Given the description of an element on the screen output the (x, y) to click on. 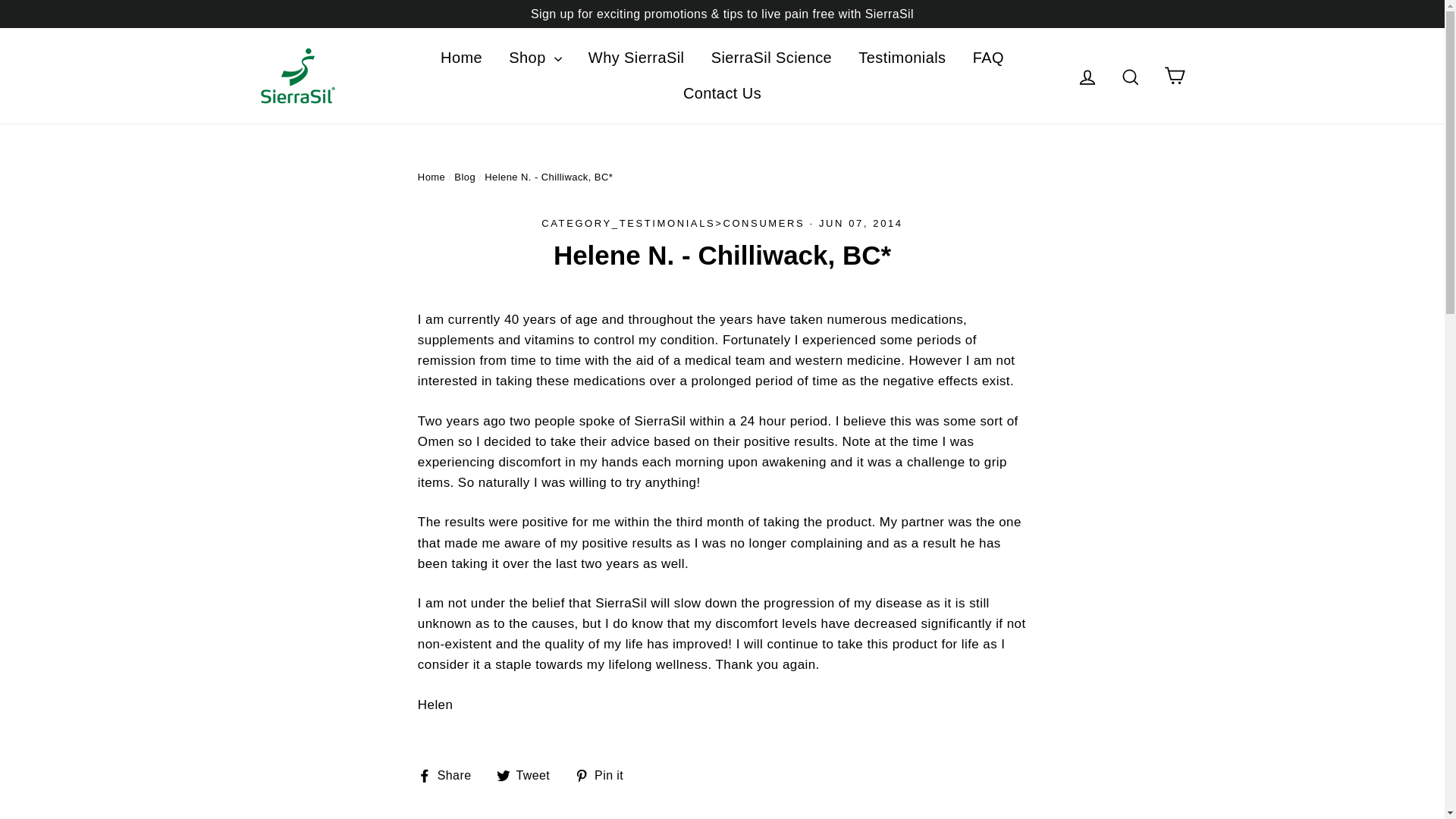
Contact Us (722, 93)
FAQ (987, 58)
SierraSil Science (772, 58)
Tweet on Twitter (529, 774)
Search (1130, 75)
Why SierraSil (635, 58)
Testimonials (901, 58)
Back to the frontpage (431, 176)
Shop (534, 58)
